Given the description of an element on the screen output the (x, y) to click on. 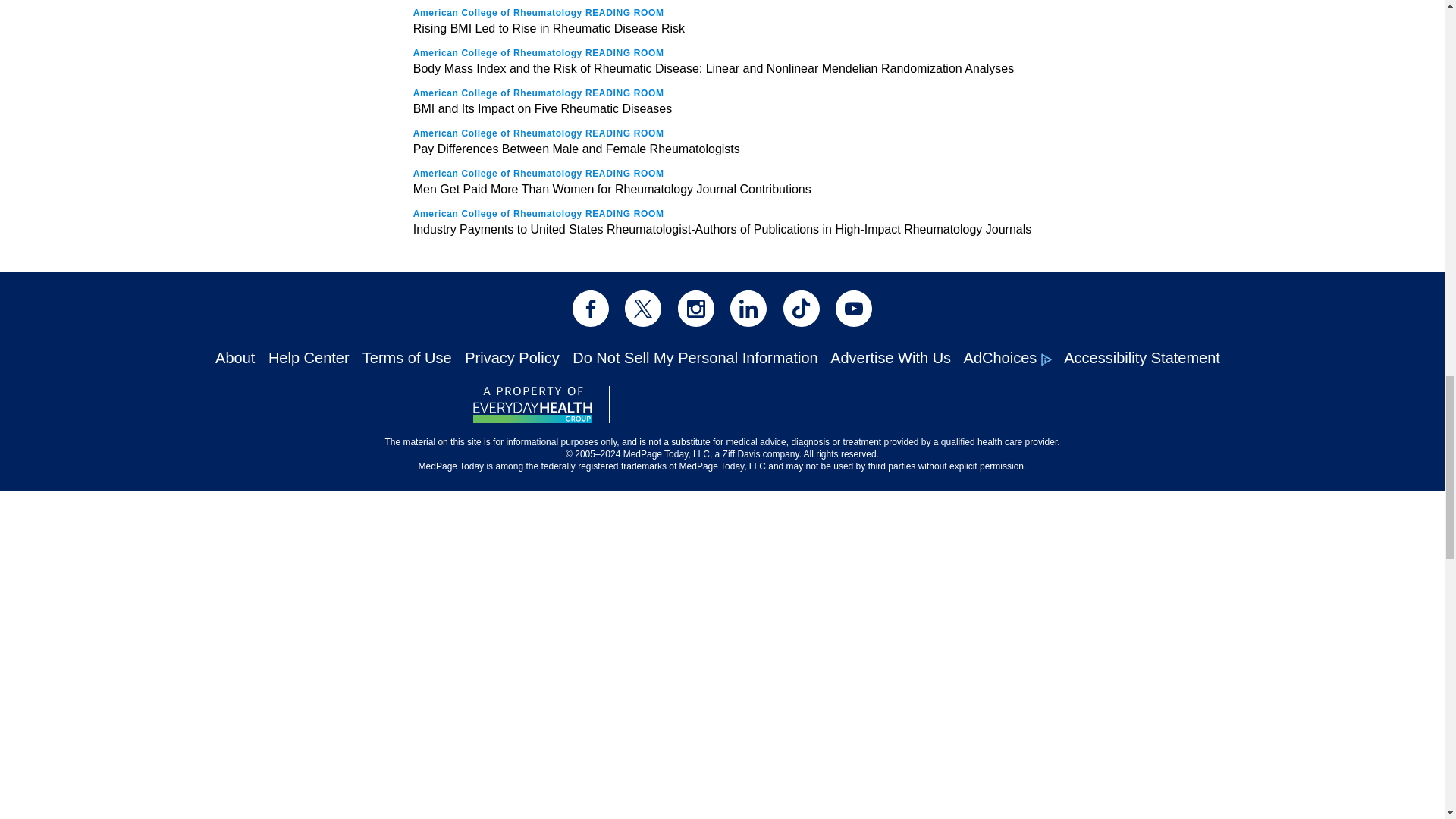
Visit us on Instagram. Opens in a new tab or window (696, 308)
Visit us on TikTok. Opens in a new tab or window (801, 308)
Visit us on Facebook. Opens in a new tab or window (590, 308)
Visit us on X. Opens in a new tab or window (642, 308)
Visit us on LinkedIn. Opens in a new tab or window (748, 308)
